Given the description of an element on the screen output the (x, y) to click on. 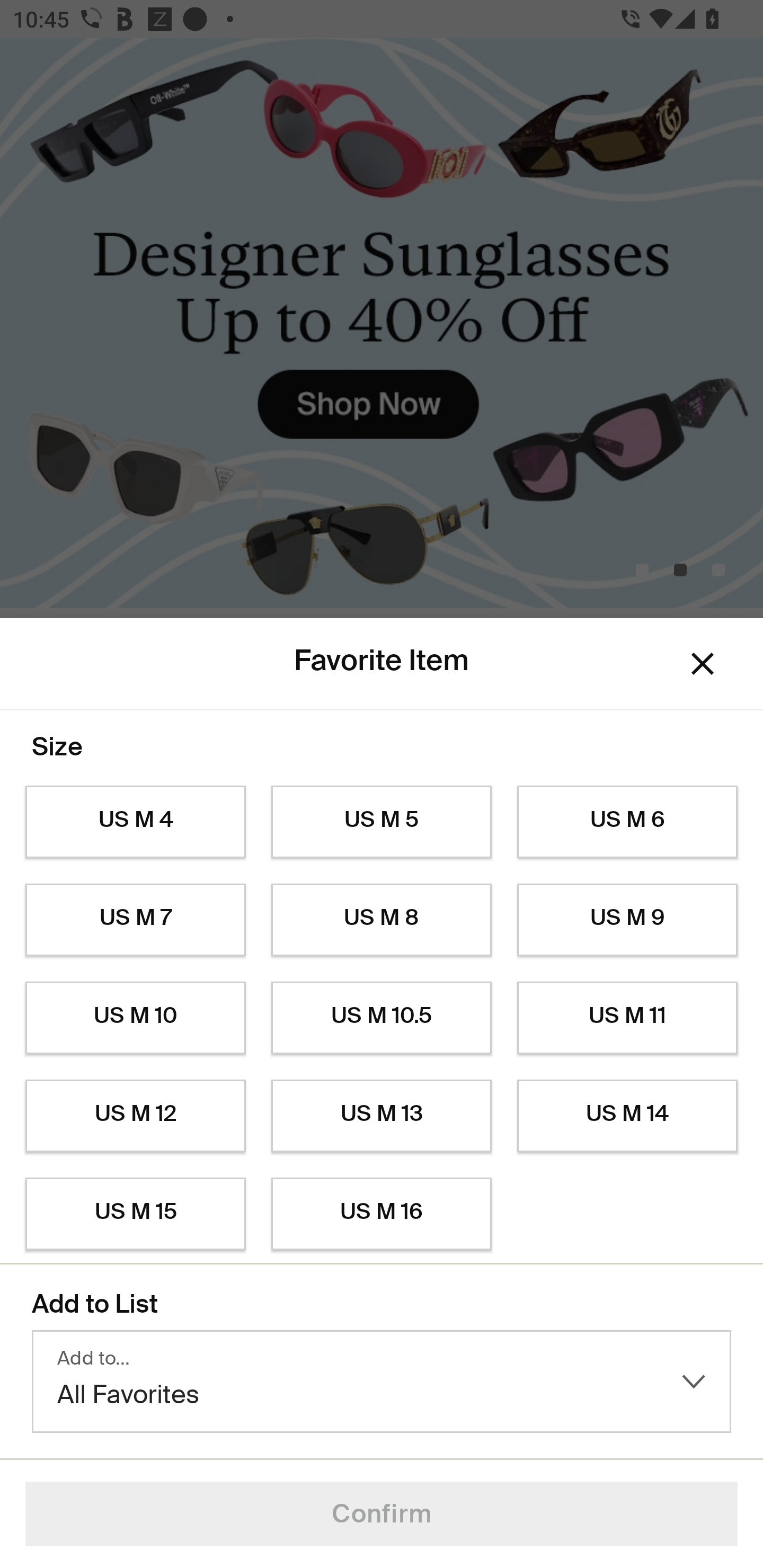
Dismiss (702, 663)
US M 4 (135, 822)
US M 5 (381, 822)
US M 6 (627, 822)
US M 7 (135, 919)
US M 8 (381, 919)
US M 9 (627, 919)
US M 10 (135, 1018)
US M 10.5 (381, 1018)
US M 11 (627, 1018)
US M 12 (135, 1116)
US M 13 (381, 1116)
US M 14 (627, 1116)
US M 15 (135, 1214)
US M 16 (381, 1214)
Add to… All Favorites (381, 1381)
Confirm (381, 1513)
